Given the description of an element on the screen output the (x, y) to click on. 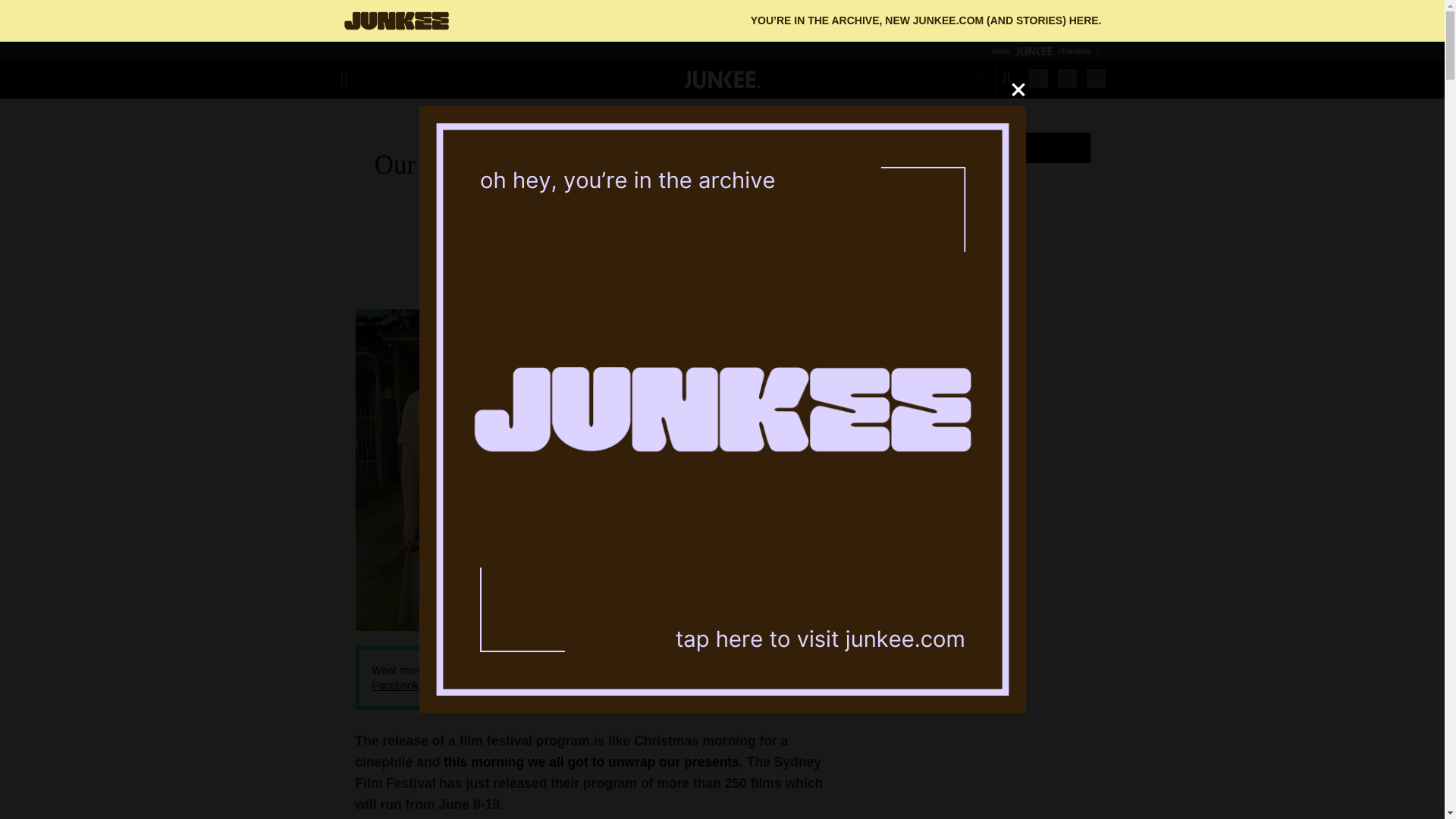
Like Us (1067, 77)
Junkee (722, 79)
Follow Us (1095, 77)
Open menu (352, 81)
more Junkee channels (1042, 50)
Subscribe (1038, 77)
